Given the description of an element on the screen output the (x, y) to click on. 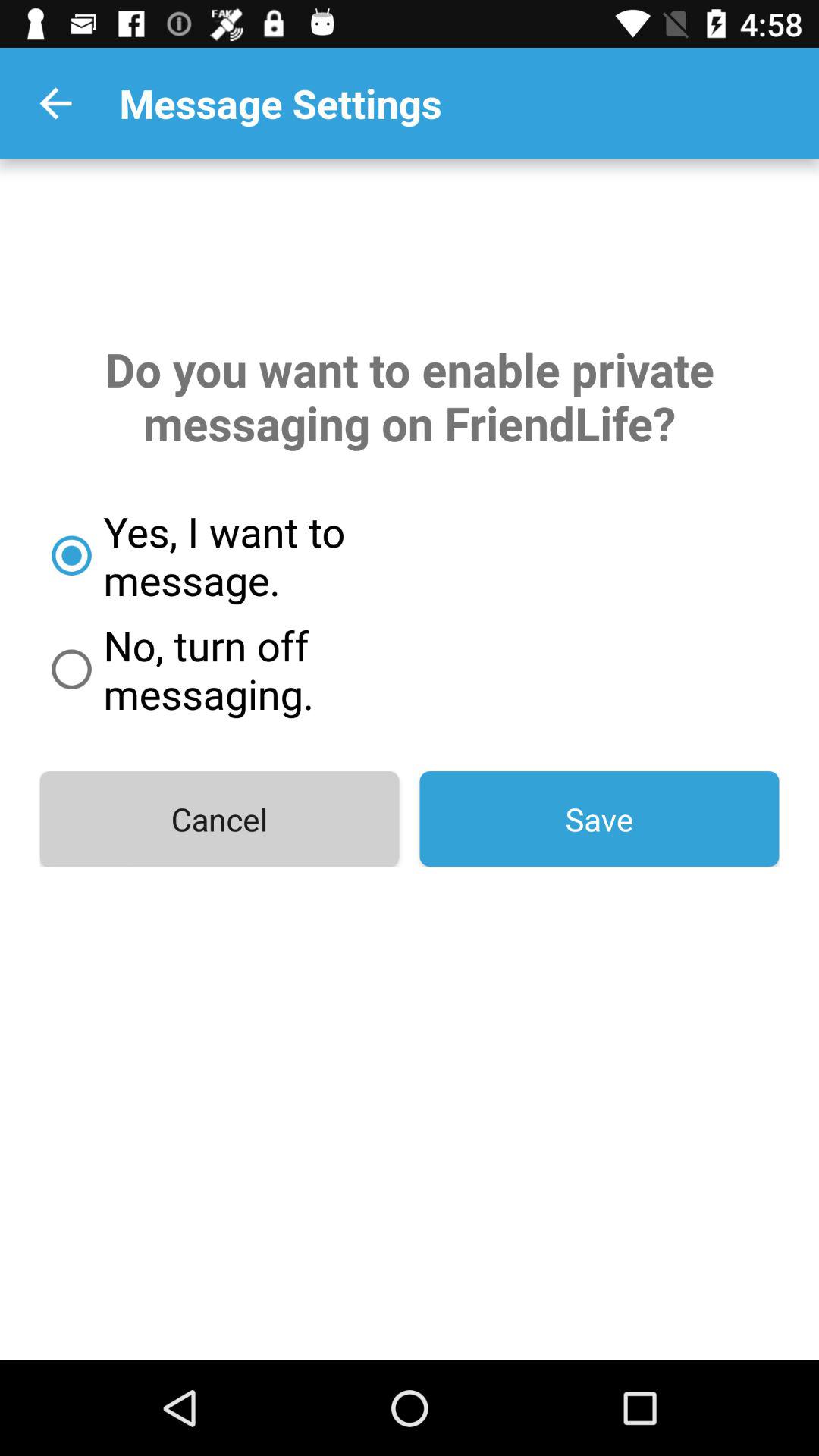
tap the item next to cancel icon (599, 818)
